Given the description of an element on the screen output the (x, y) to click on. 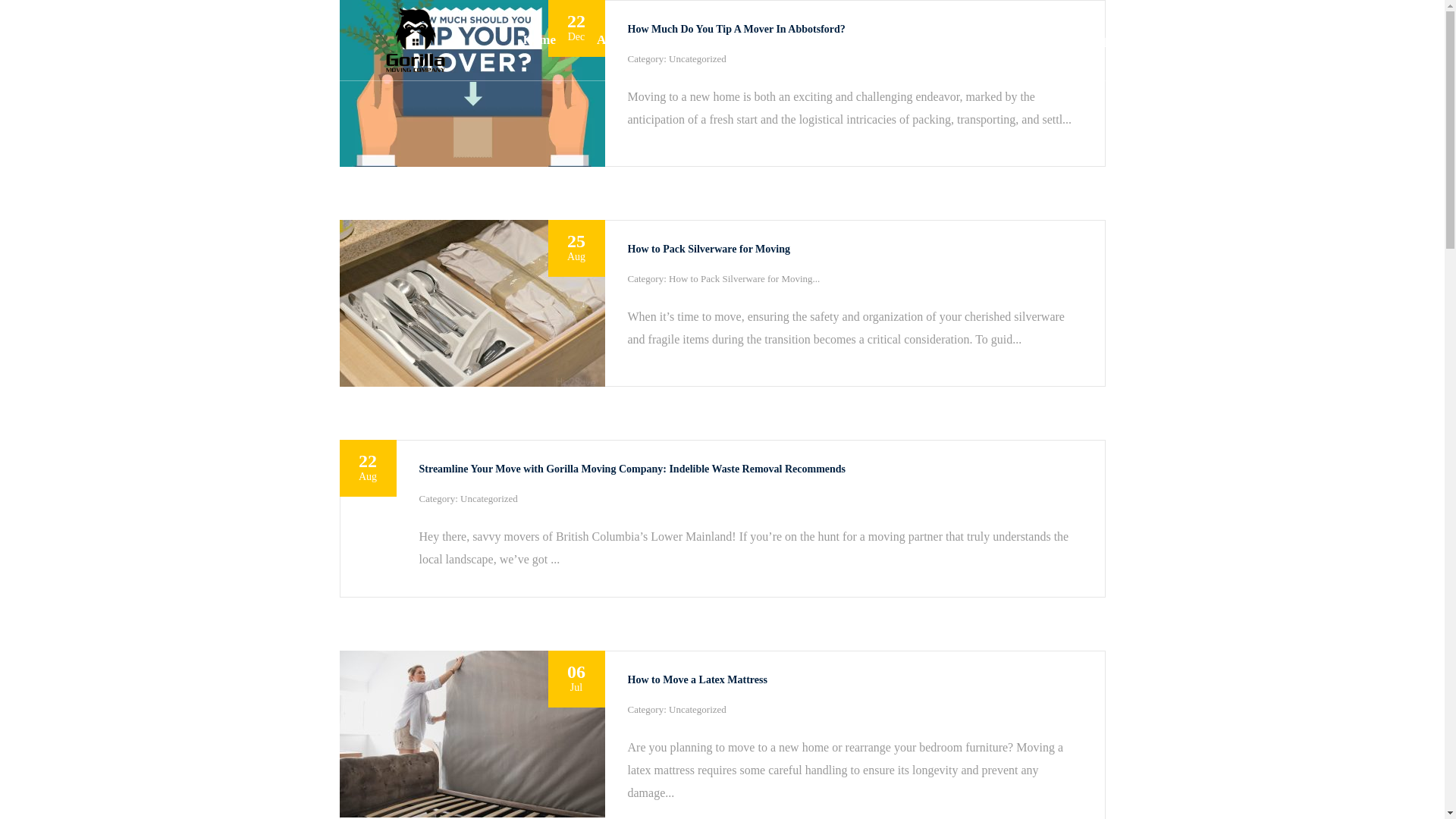
How to Move a Latex Mattress (472, 303)
Tip-a-Mover-Title-Image (854, 679)
Request a Quote (472, 83)
How to Pack Silverware for Moving (1128, 39)
Booking (854, 249)
Areas (953, 39)
Home (789, 39)
